Given the description of an element on the screen output the (x, y) to click on. 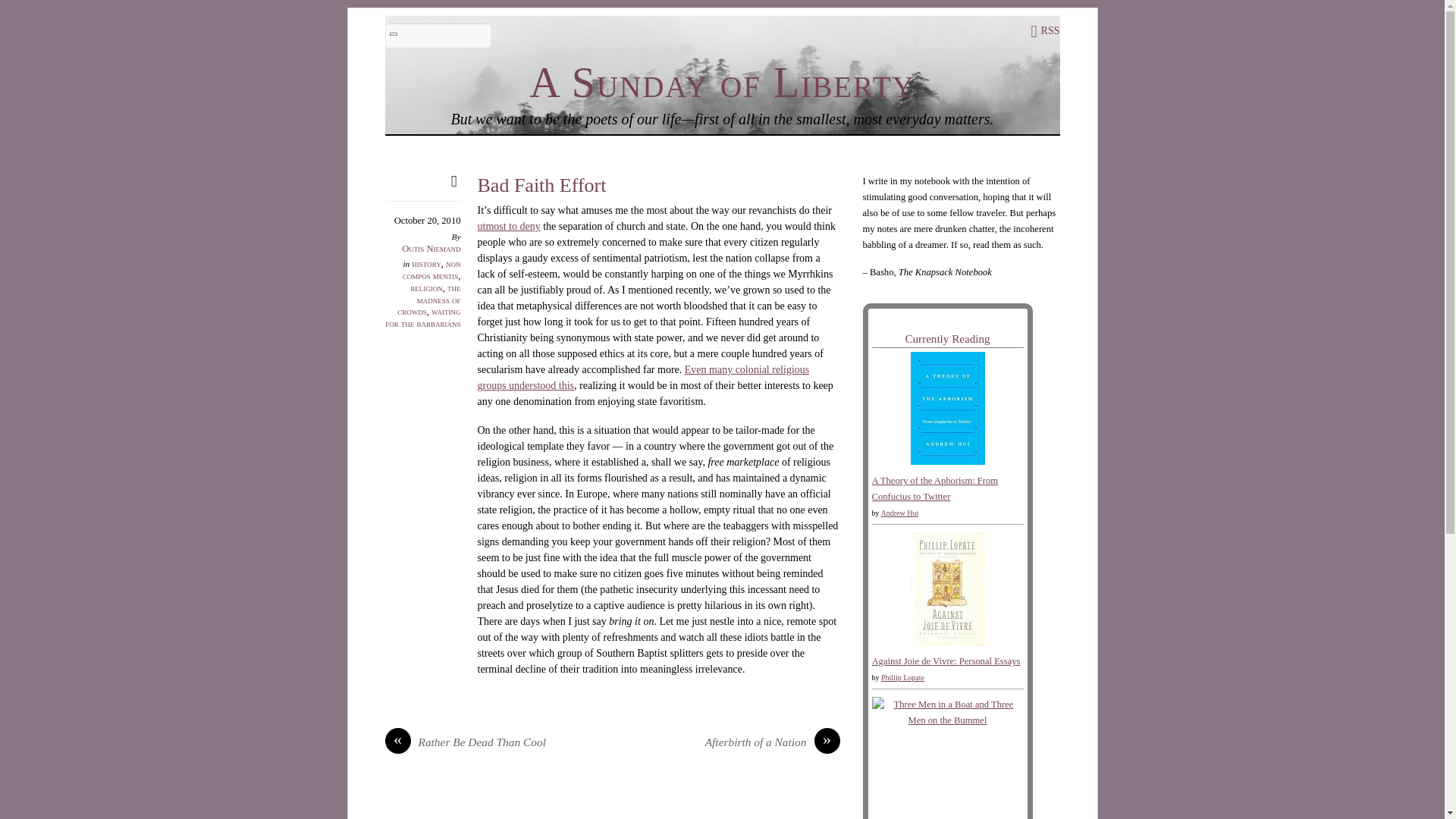
Bad Faith Effort (542, 185)
history (426, 263)
religion (426, 287)
RSS (1044, 30)
Even many colonial religious groups understood this (643, 377)
Outis Niemand (430, 247)
A Theory of the Aphorism: From Confucius to Twitter (947, 461)
A Theory of the Aphorism: From Confucius to Twitter (935, 488)
Against Joie de Vivre: Personal Essays (947, 643)
Currently Reading (947, 338)
